Given the description of an element on the screen output the (x, y) to click on. 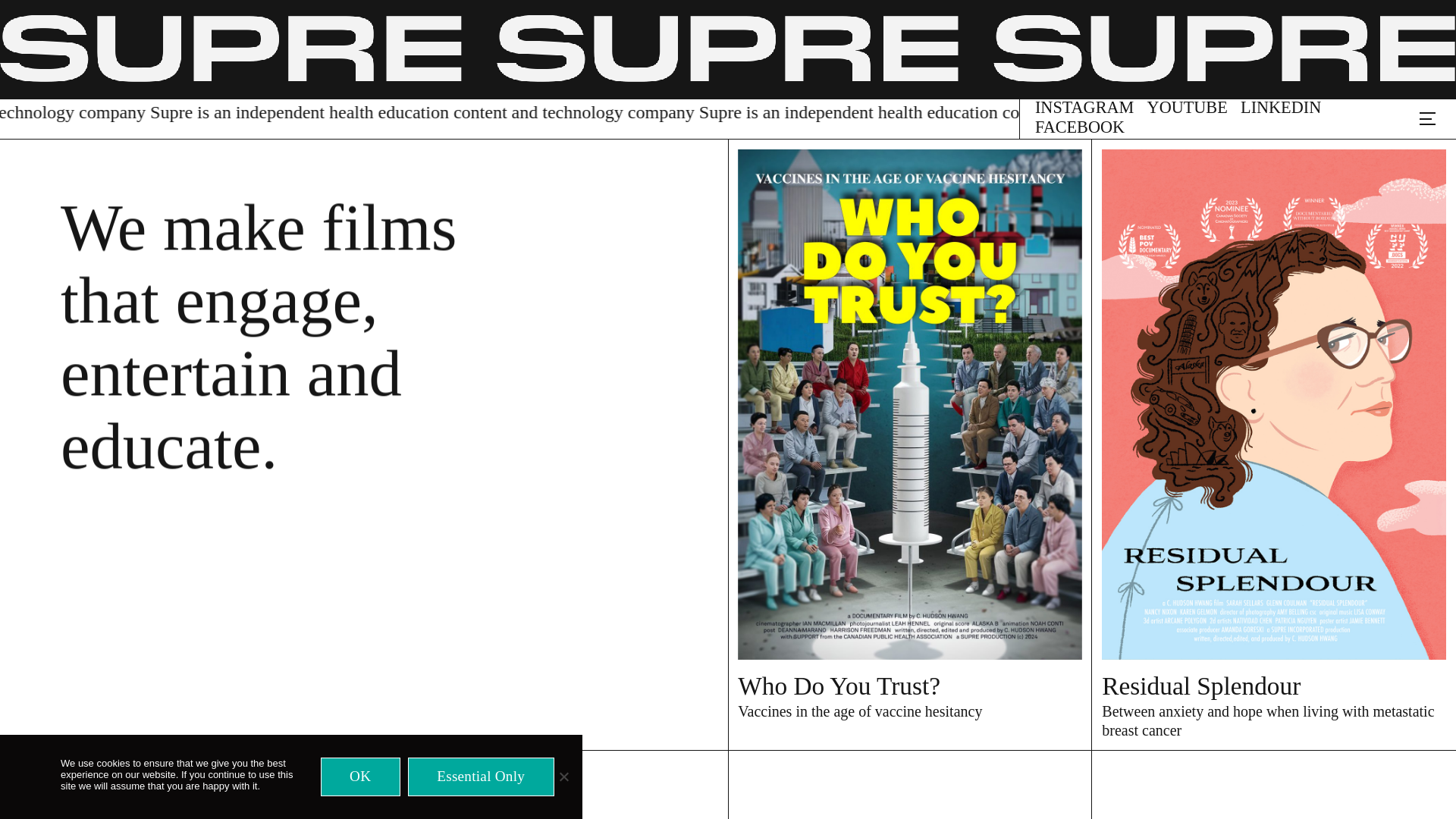
YOUTUBE (1187, 107)
LINKEDIN (1280, 107)
Essential Only (563, 776)
Essential Only (480, 776)
INSTAGRAM (1084, 107)
OK (360, 776)
FACEBOOK (1079, 127)
